Given the description of an element on the screen output the (x, y) to click on. 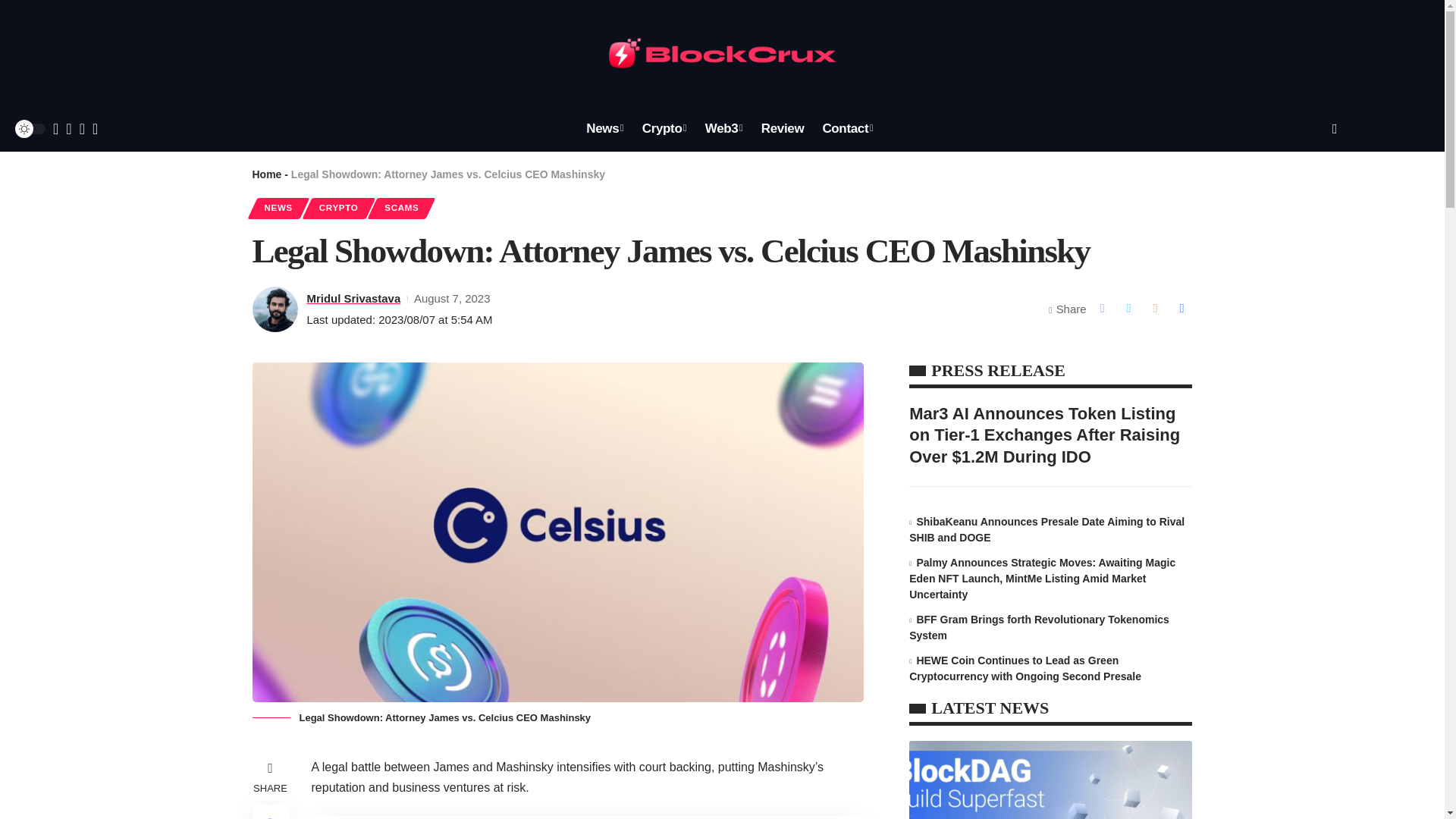
Crypto (664, 128)
Contact (847, 128)
News (603, 128)
Review (782, 128)
Web3 (723, 128)
